Given the description of an element on the screen output the (x, y) to click on. 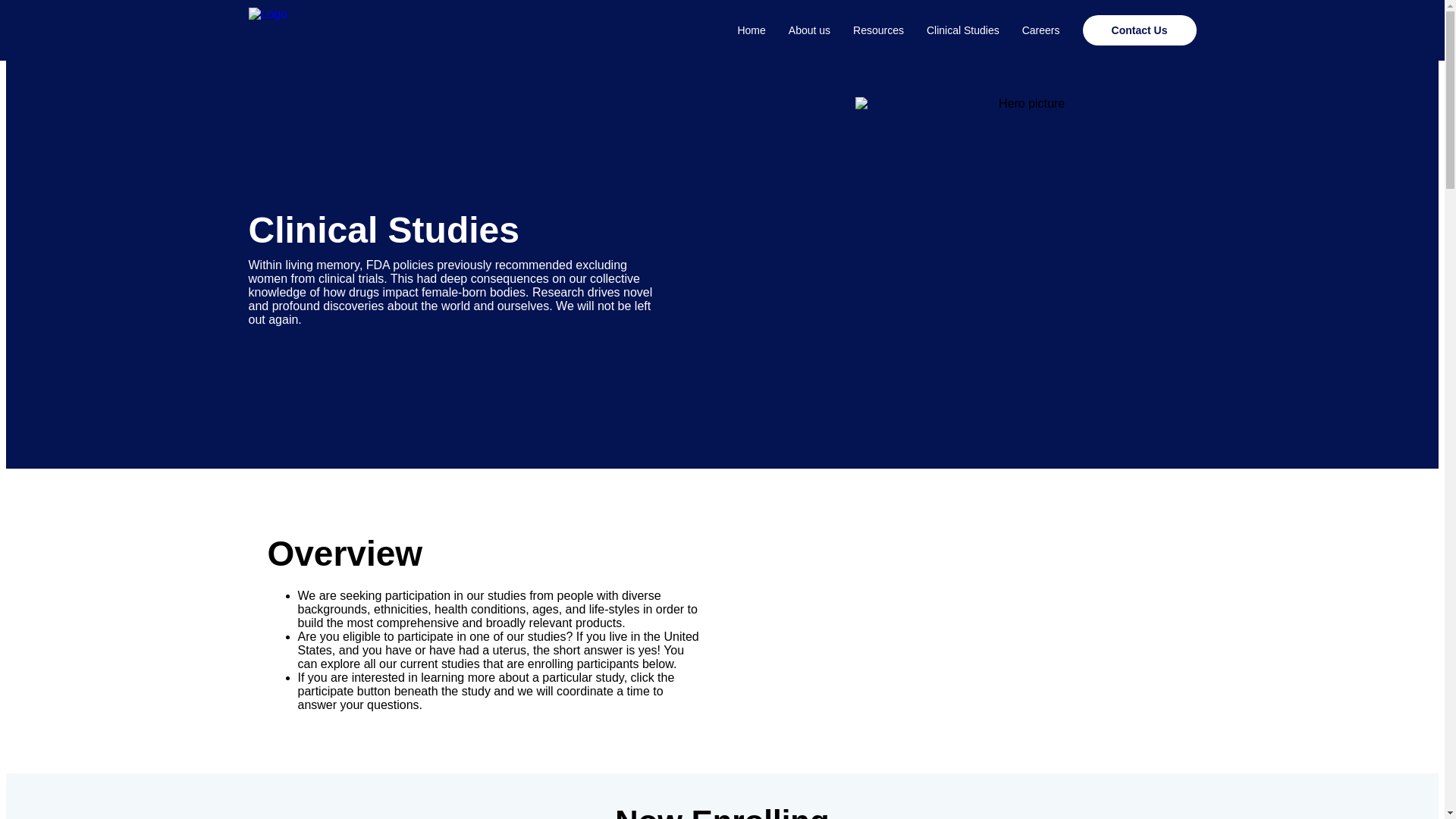
Clinical Studies (951, 30)
Contact Us (1127, 30)
Careers (1028, 30)
About us (797, 30)
Contact Us (1139, 30)
Resources (866, 30)
Home (739, 30)
